Given the description of an element on the screen output the (x, y) to click on. 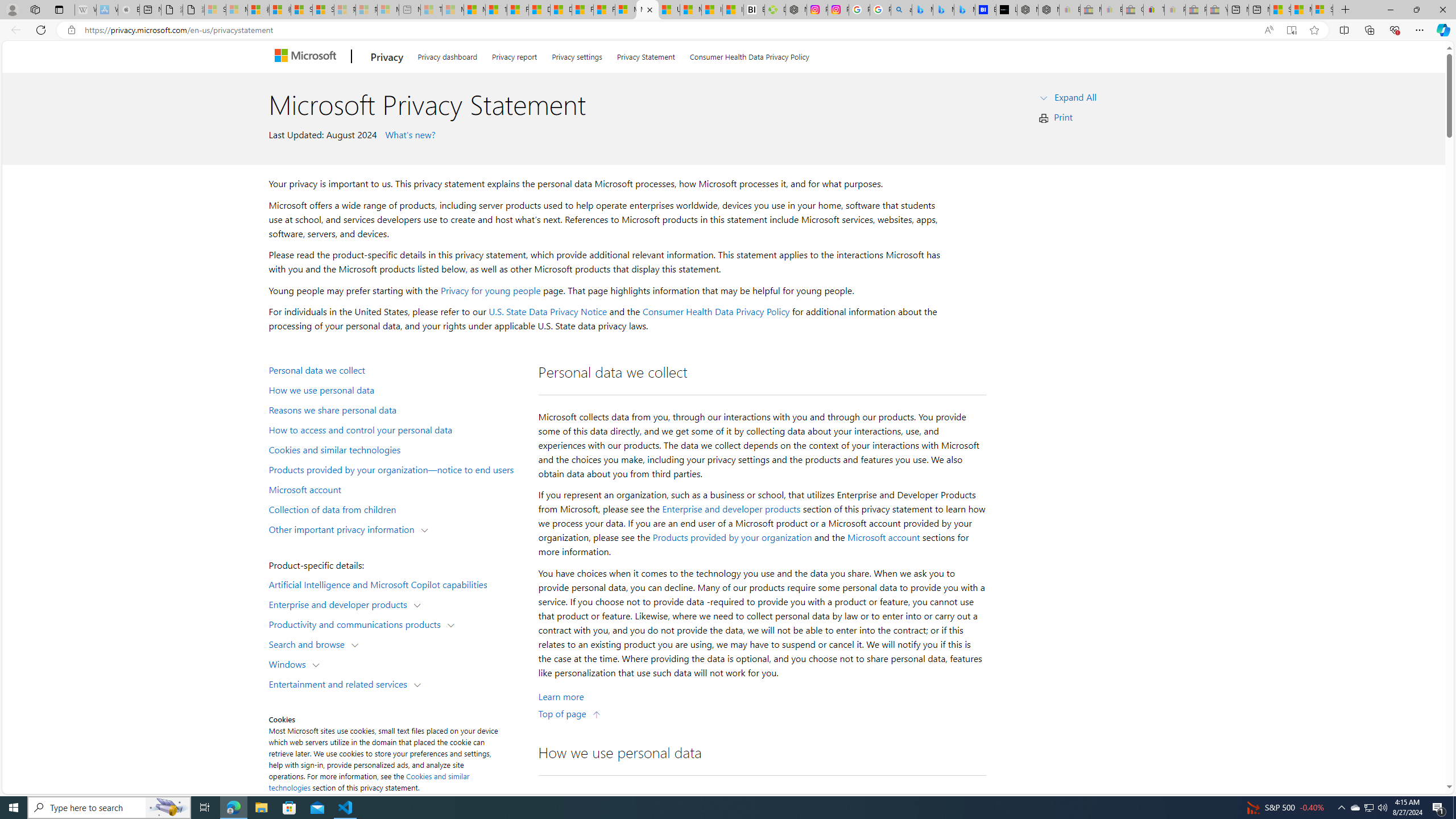
Search and browse (308, 643)
Enterprise and developer products (731, 508)
Privacy report (514, 54)
Cookies and similar technologies (395, 449)
Microsoft Bing Travel - Flights from Hong Kong to Bangkok (922, 9)
Microsoft Services Agreement - Sleeping (236, 9)
Microsoft account (883, 537)
Privacy report (514, 54)
How to access and control your personal data (395, 428)
Wikipedia - Sleeping (85, 9)
